Given the description of an element on the screen output the (x, y) to click on. 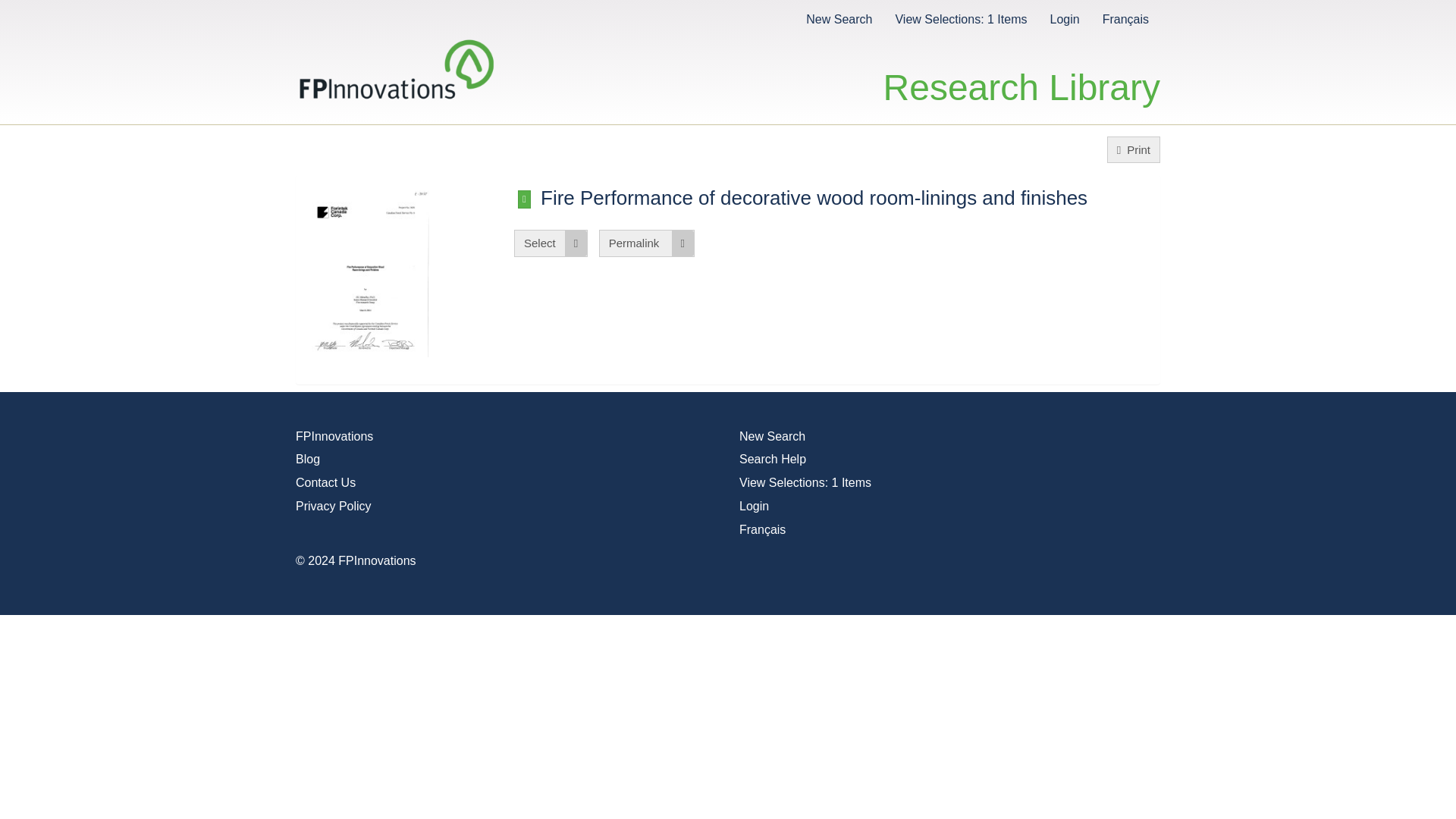
Print (1133, 149)
New Search (772, 436)
FPInnovations (333, 436)
Login (753, 505)
Contact Us (325, 481)
Permalink (646, 243)
Toggle Full Record (849, 197)
Toggle Full Record (524, 199)
Research Library (1021, 71)
New Search (838, 18)
Blog (307, 459)
Login (1064, 18)
View Selections: 1 Items (960, 18)
Select (550, 243)
Privacy Policy (333, 505)
